Given the description of an element on the screen output the (x, y) to click on. 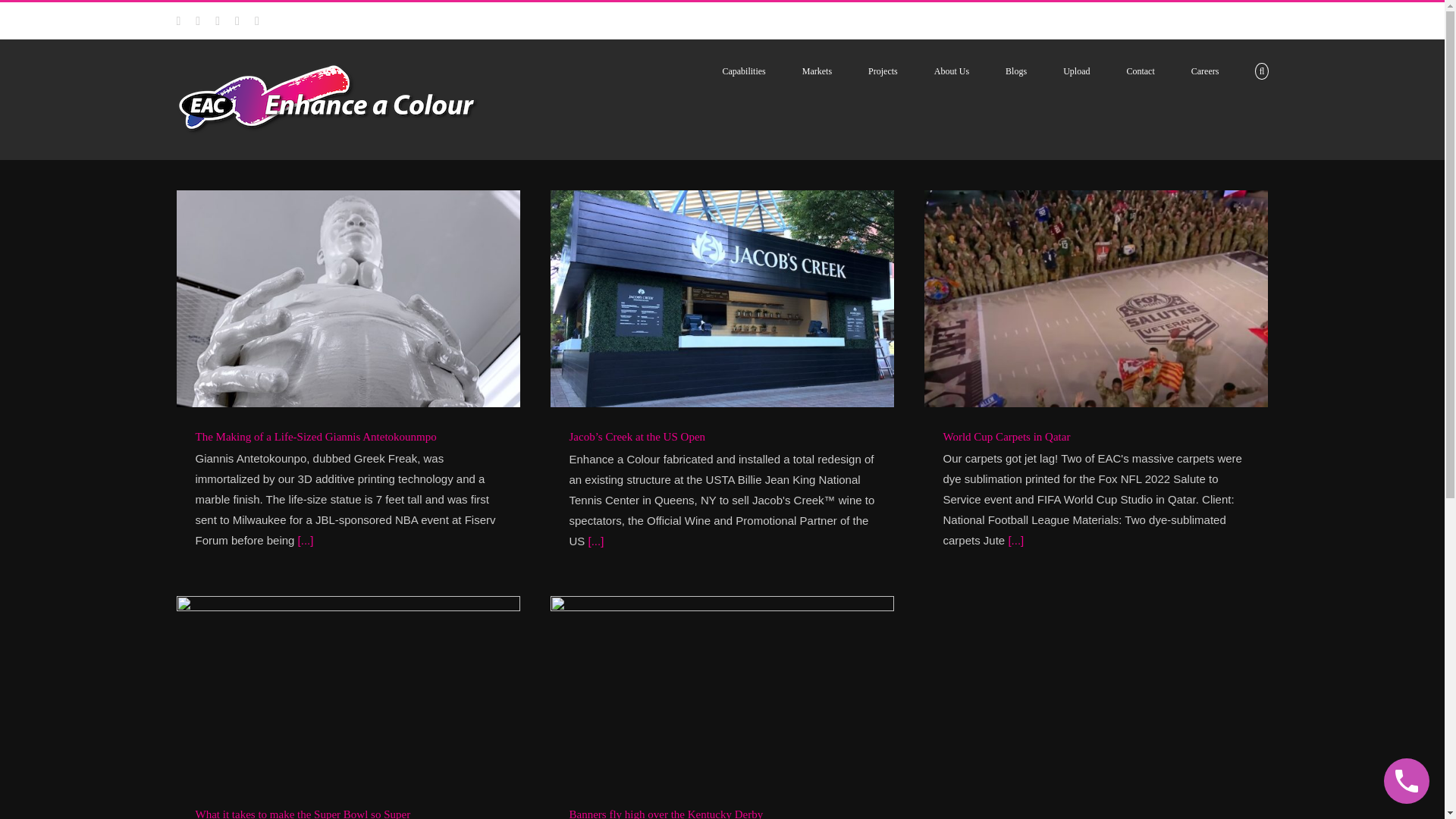
The Making of a Life-Sized Giannis Antetokounmpo (315, 436)
